Given the description of an element on the screen output the (x, y) to click on. 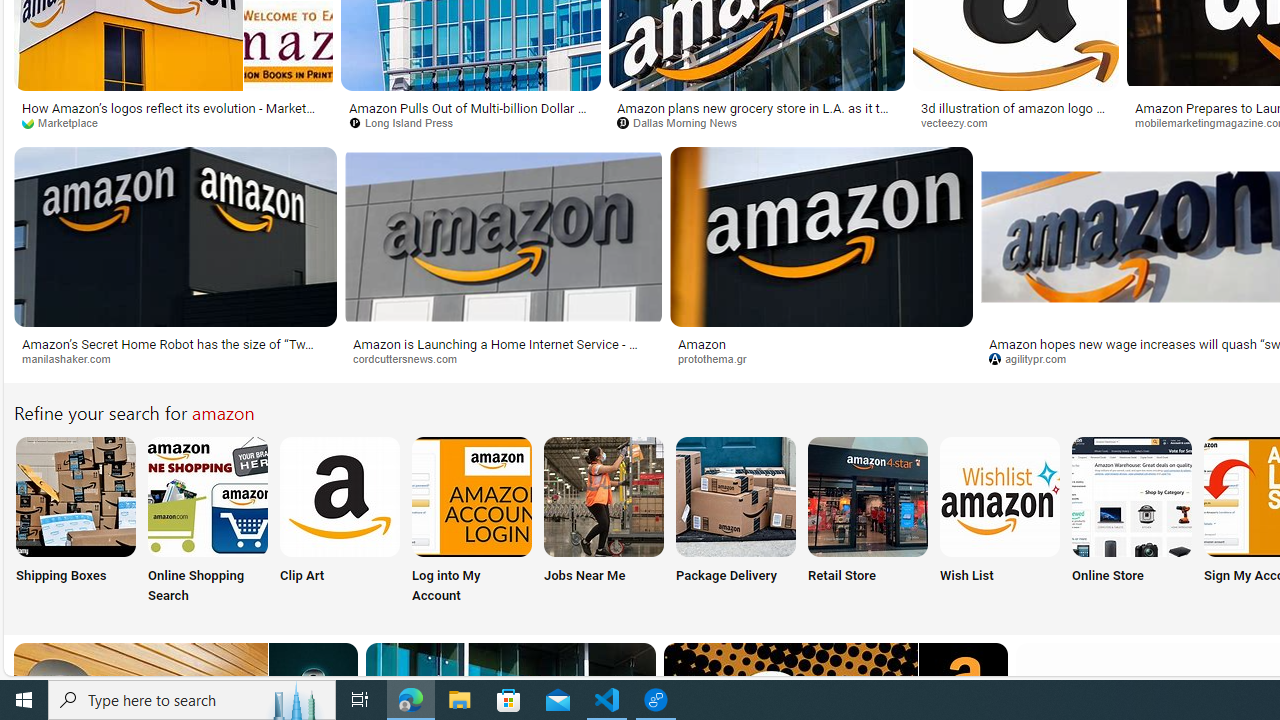
Dallas Morning News (683, 121)
Log into My Account (472, 521)
Amazon Clip Art (339, 496)
vecteezy.com (1016, 123)
Amazon Jobs Near Me Jobs Near Me (604, 521)
Dallas Morning News (756, 123)
Amazon Log into My Account (472, 496)
